Given the description of an element on the screen output the (x, y) to click on. 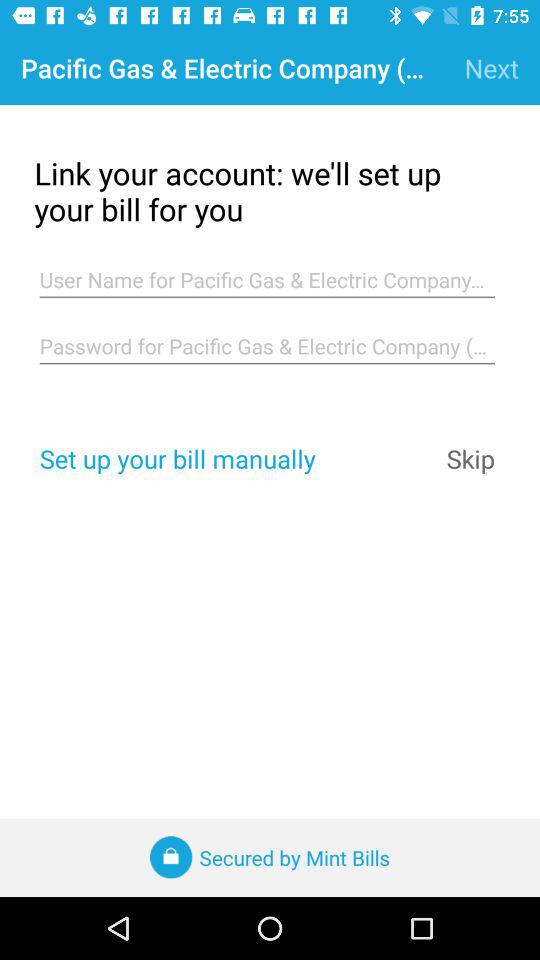
turn on icon above set up your item (267, 346)
